Given the description of an element on the screen output the (x, y) to click on. 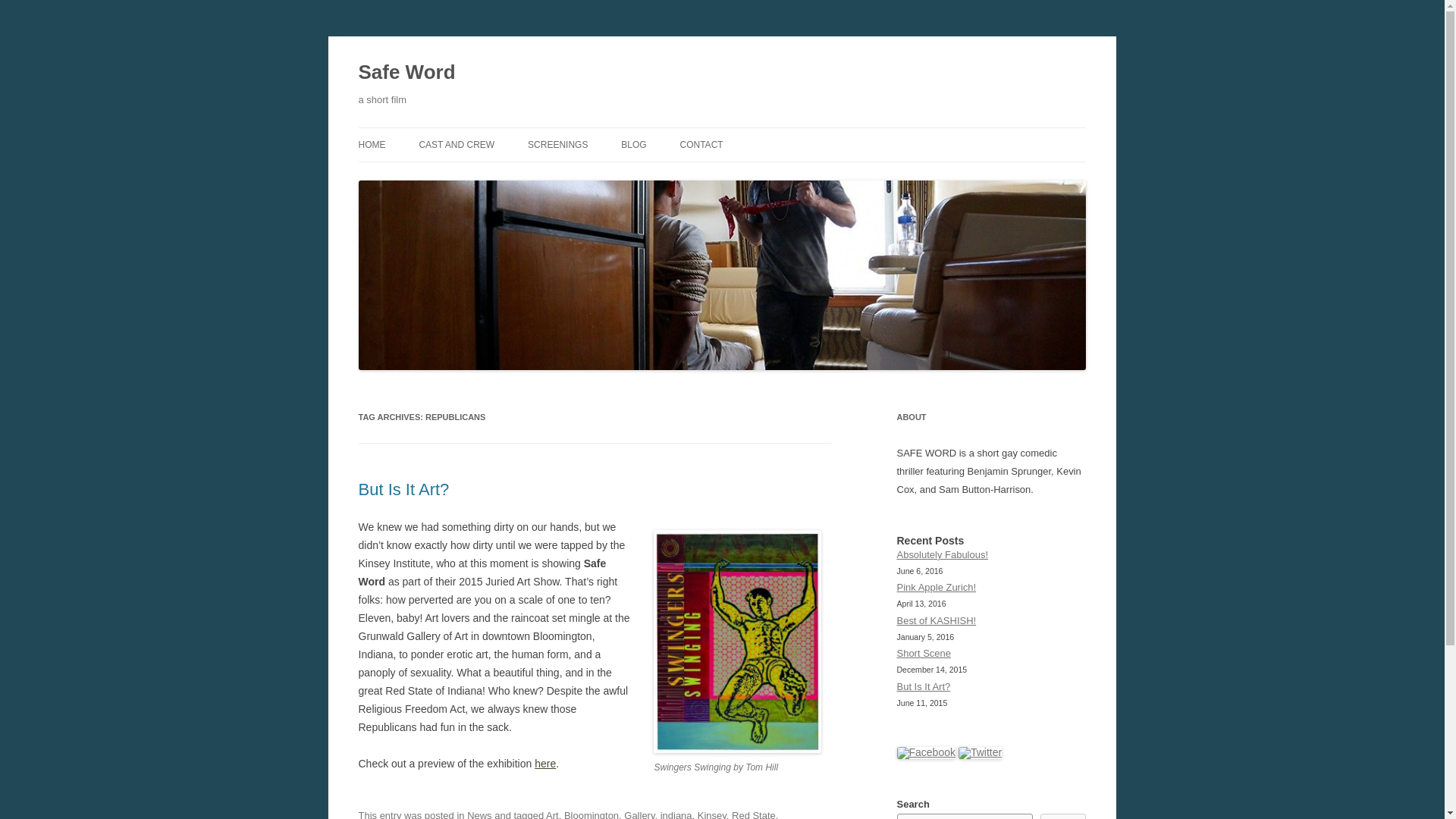
Gallery (638, 814)
Safe Word (406, 72)
CONTACT (701, 144)
Pink Apple Zurich! (935, 586)
Red State (754, 814)
Short Scene (923, 653)
Bloomington (591, 814)
Best of KASHISH! (935, 620)
